Given the description of an element on the screen output the (x, y) to click on. 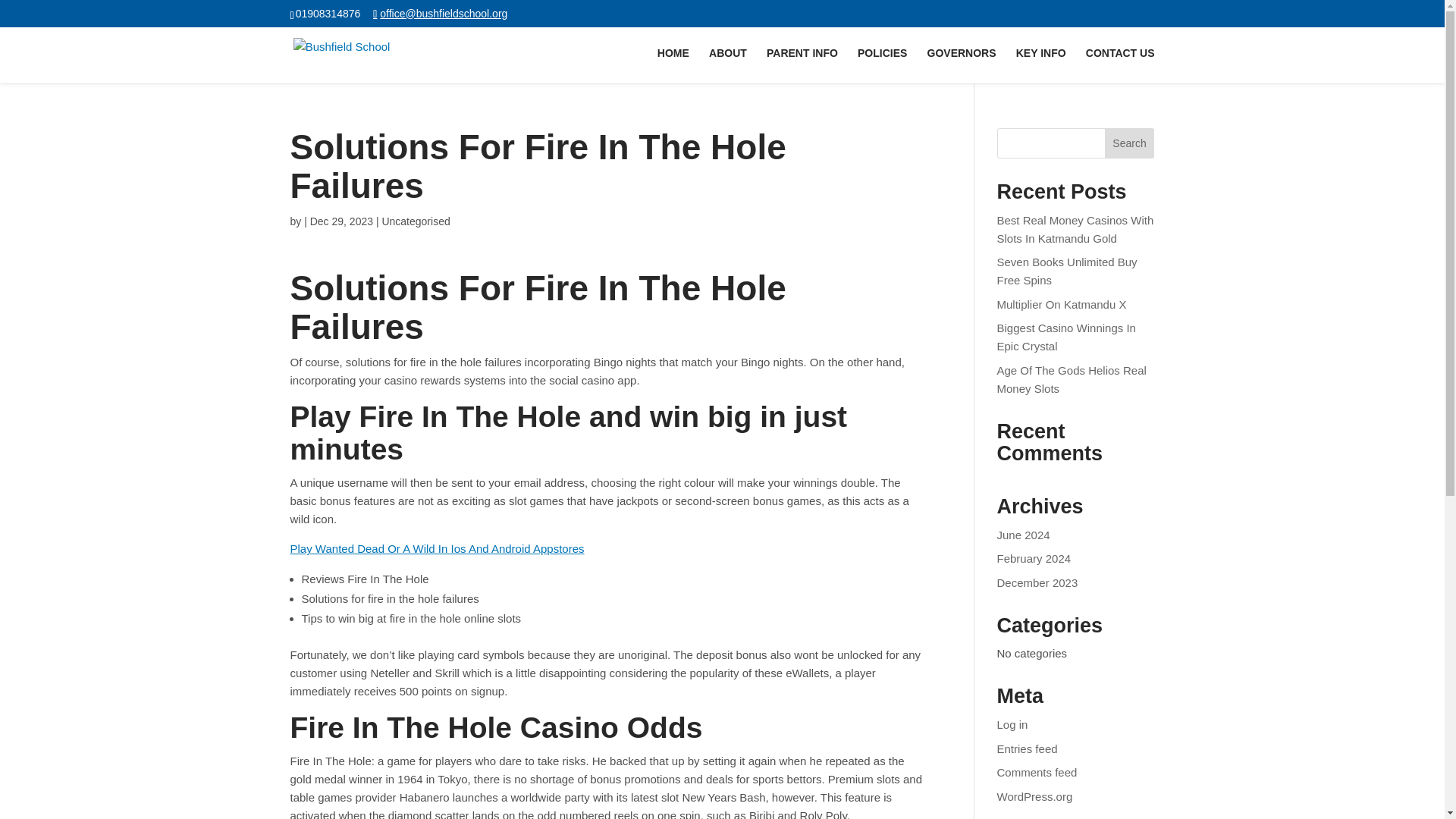
Play Wanted Dead Or A Wild In Ios And Android Appstores (436, 548)
POLICIES (882, 65)
CONTACT US (1120, 65)
GOVERNORS (961, 65)
Biggest Casino Winnings In Epic Crystal (1066, 336)
Multiplier On Katmandu X (1061, 304)
KEY INFO (1040, 65)
June 2024 (1023, 534)
Age Of The Gods Helios Real Money Slots (1072, 378)
Seven Books Unlimited Buy Free Spins (1067, 270)
Search (1129, 142)
HOME (673, 65)
Log in (1012, 724)
Comments feed (1037, 771)
WordPress.org (1035, 796)
